Given the description of an element on the screen output the (x, y) to click on. 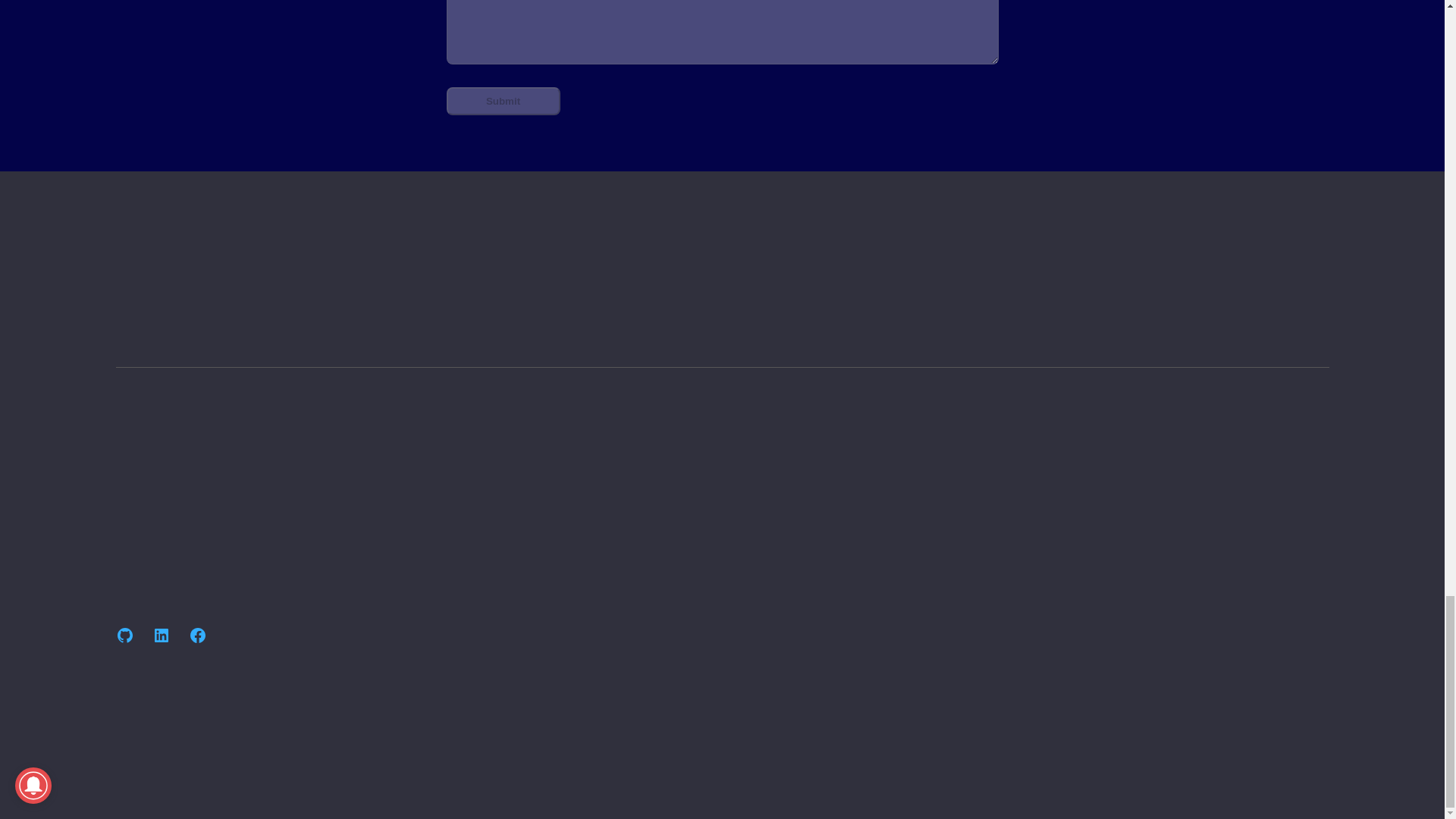
Submit (502, 100)
Facebook (196, 635)
LinkedIn (160, 635)
Submit (502, 100)
GitHub (124, 635)
